Given the description of an element on the screen output the (x, y) to click on. 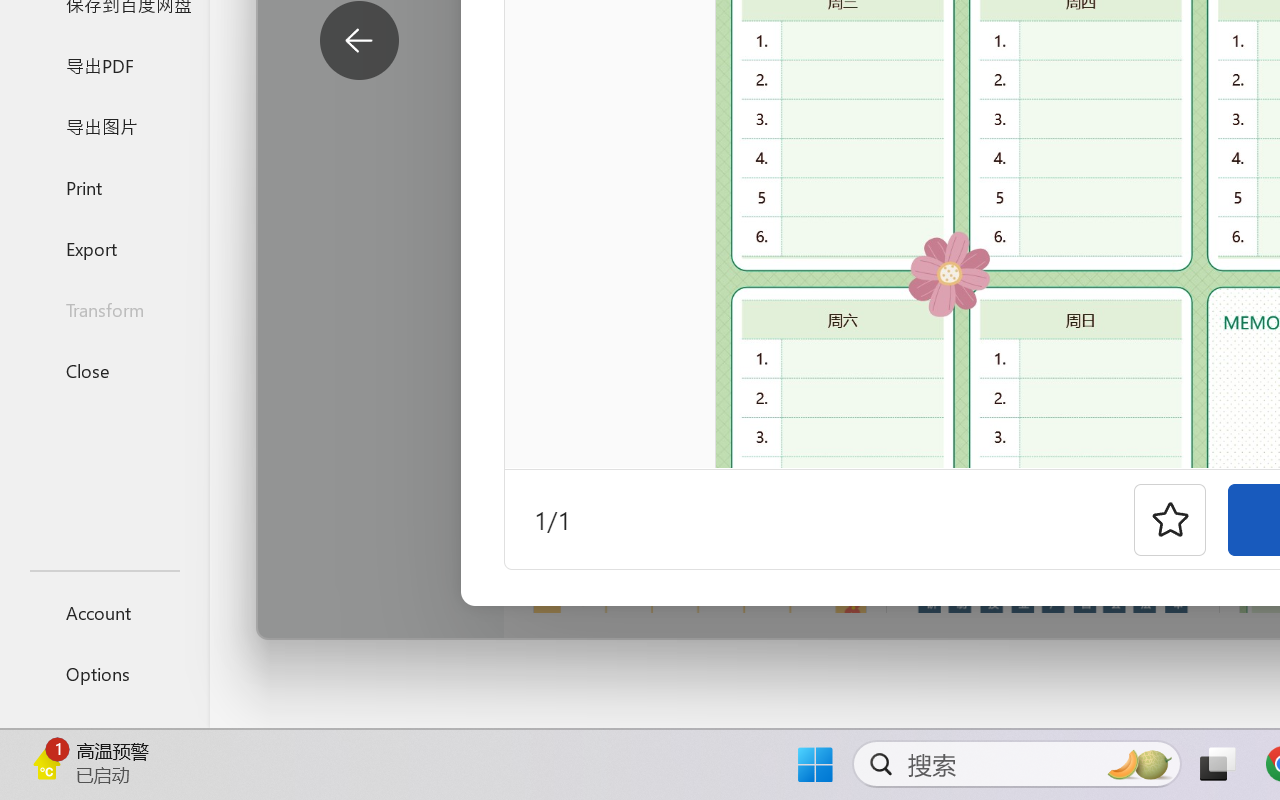
Print (104, 186)
